Given the description of an element on the screen output the (x, y) to click on. 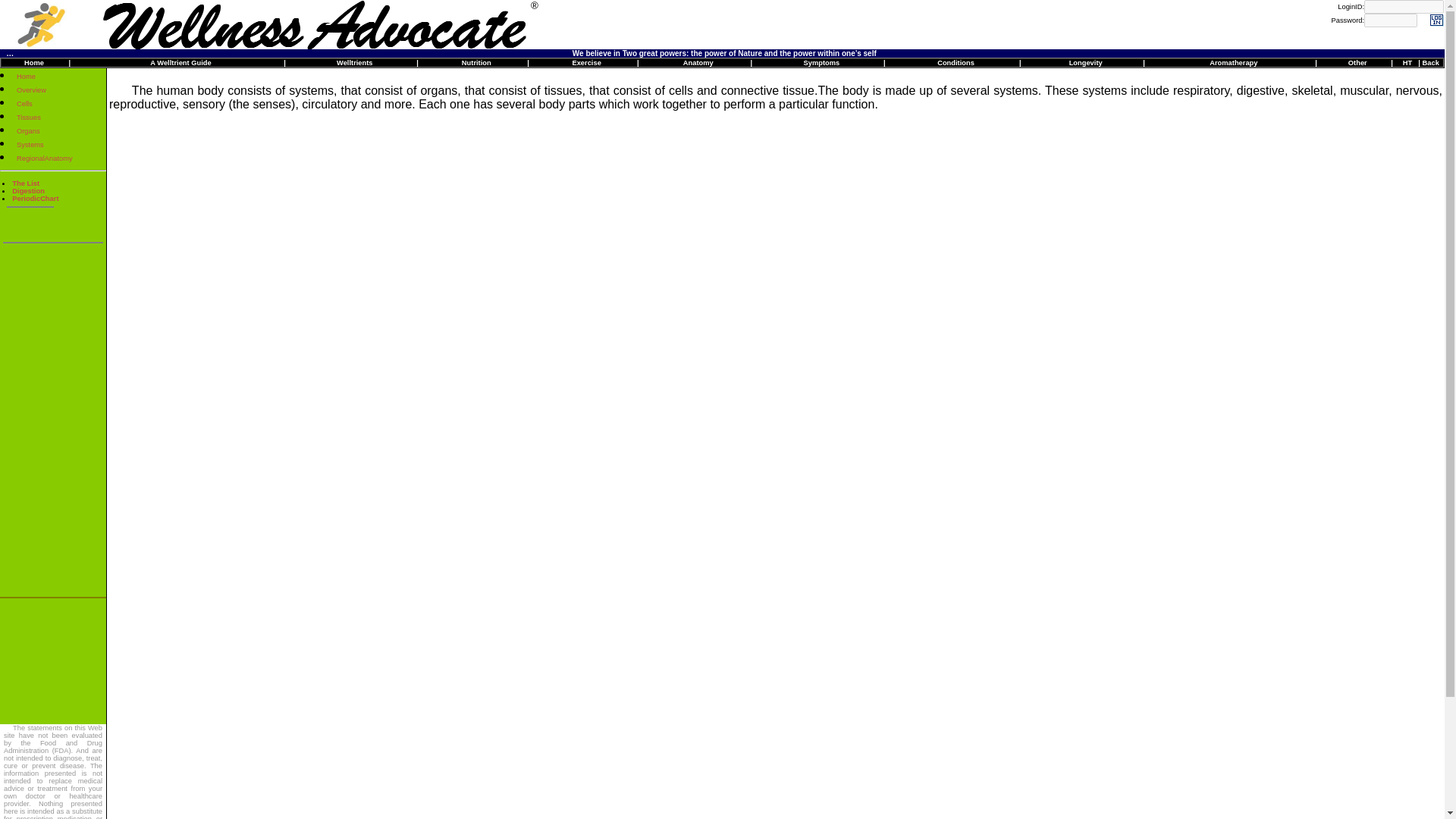
Home (33, 62)
Home (25, 76)
Overview (31, 90)
Cells (24, 103)
Aromatherapy (1233, 62)
A Welltrient Guide (180, 62)
Organs (28, 131)
Conditions (955, 62)
Tissues (28, 117)
Exercise (585, 62)
Symptoms (821, 62)
